Given the description of an element on the screen output the (x, y) to click on. 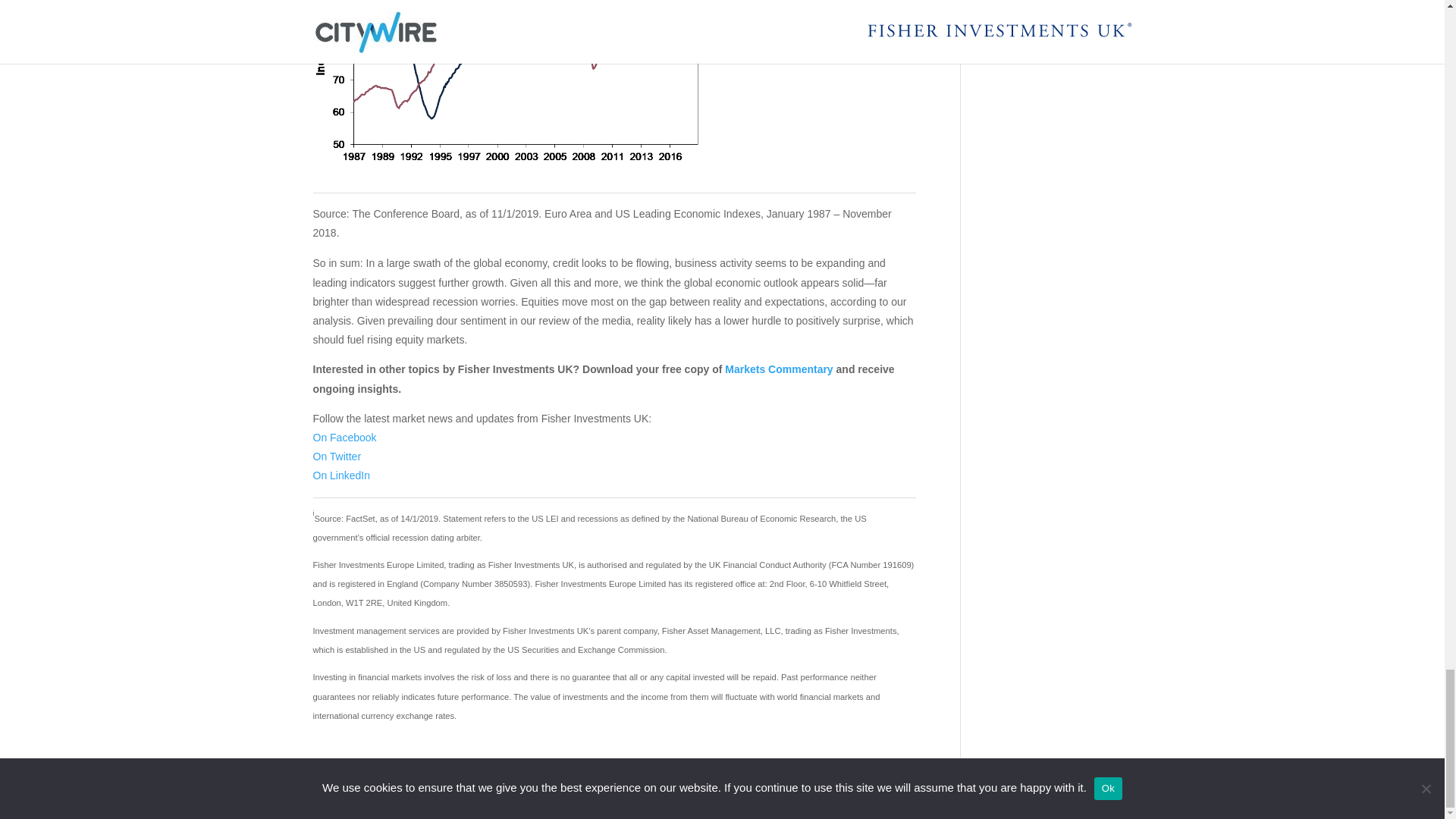
On LinkedIn (341, 475)
On Facebook (344, 437)
On Twitter (337, 456)
Markets Commentary (778, 369)
